Given the description of an element on the screen output the (x, y) to click on. 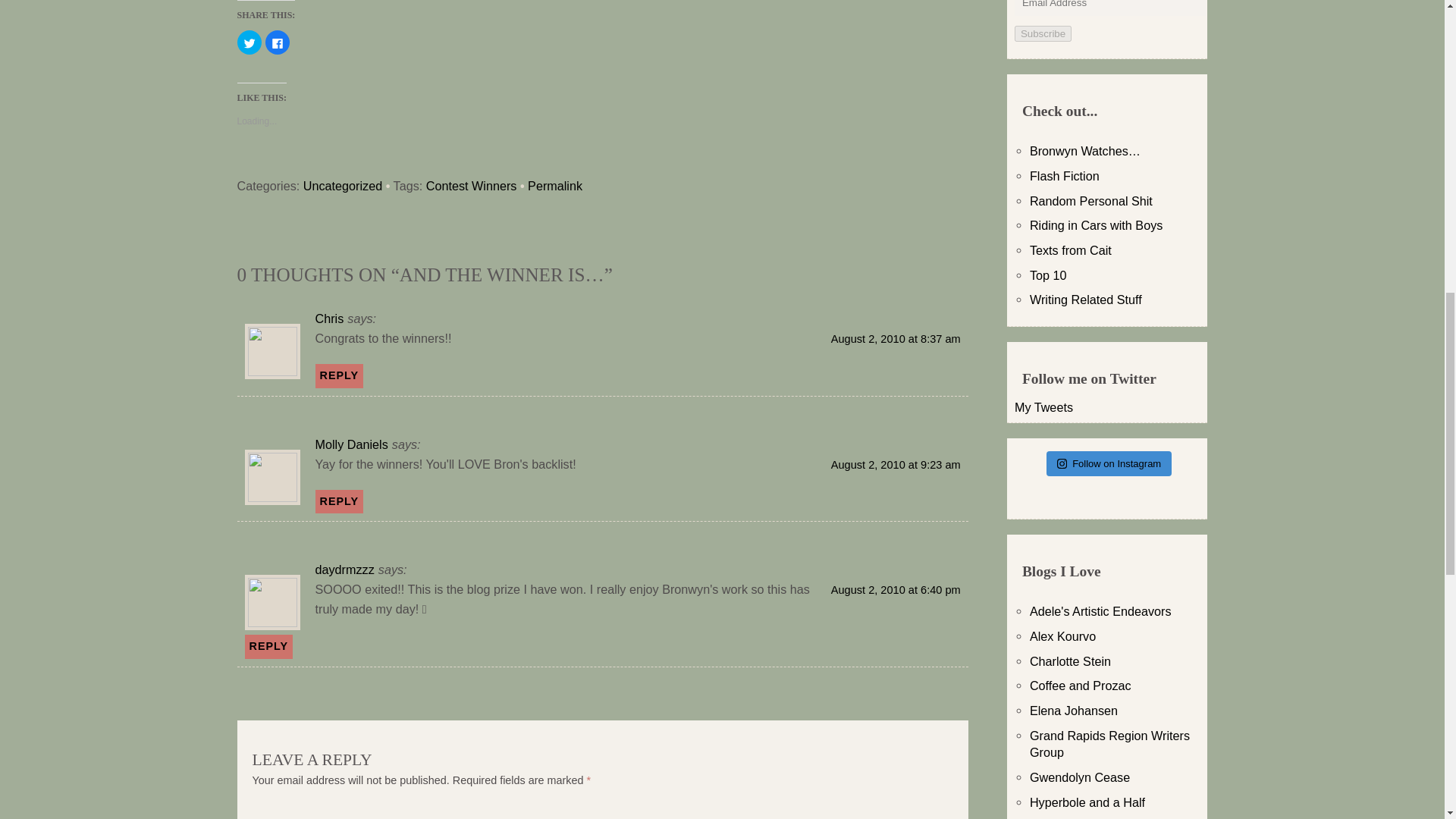
Click to share on Facebook (276, 42)
Click to share on Twitter (247, 42)
